Given the description of an element on the screen output the (x, y) to click on. 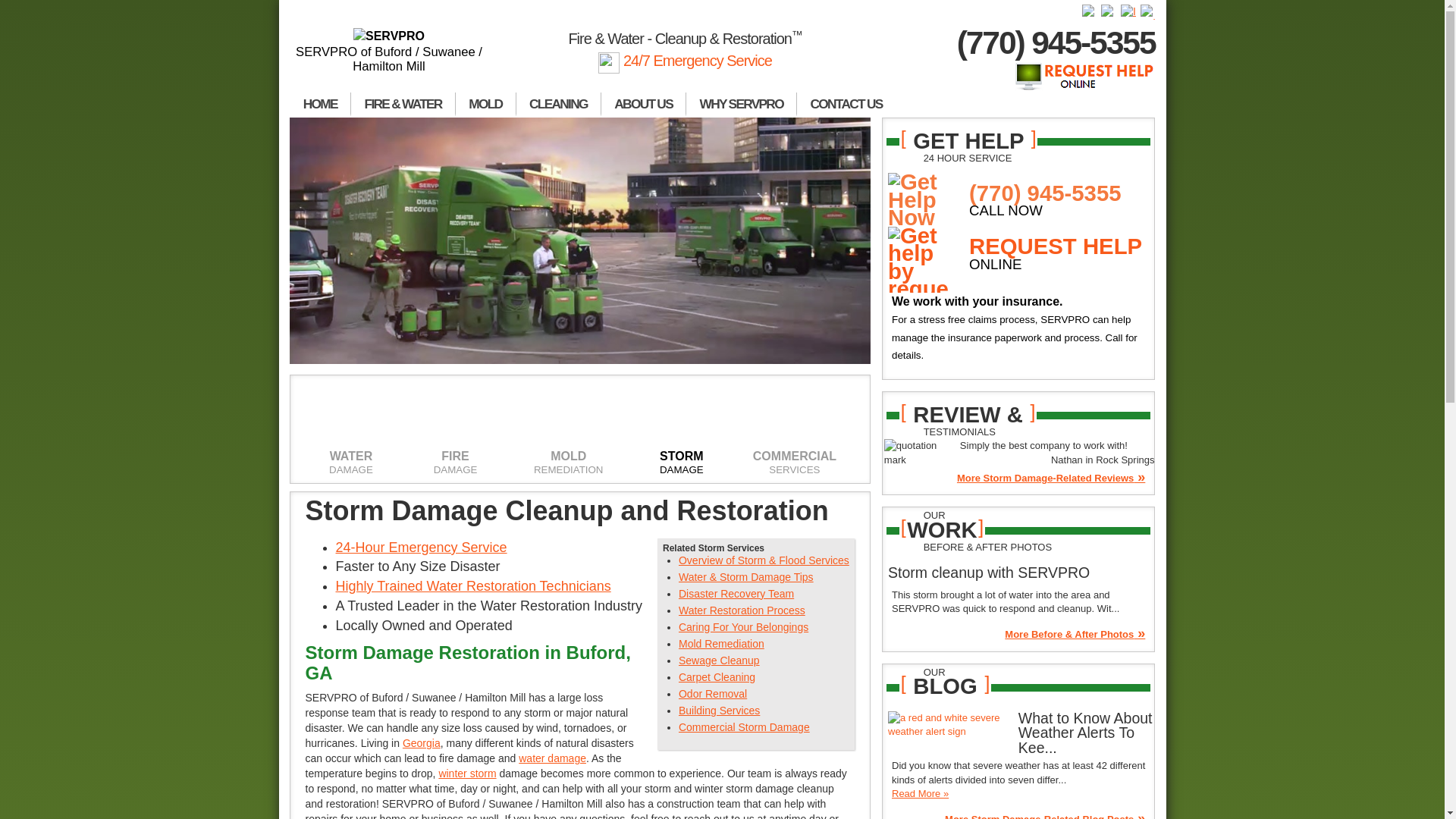
HOME (319, 104)
CLEANING (558, 104)
MOLD (485, 104)
ABOUT US (643, 104)
